Given the description of an element on the screen output the (x, y) to click on. 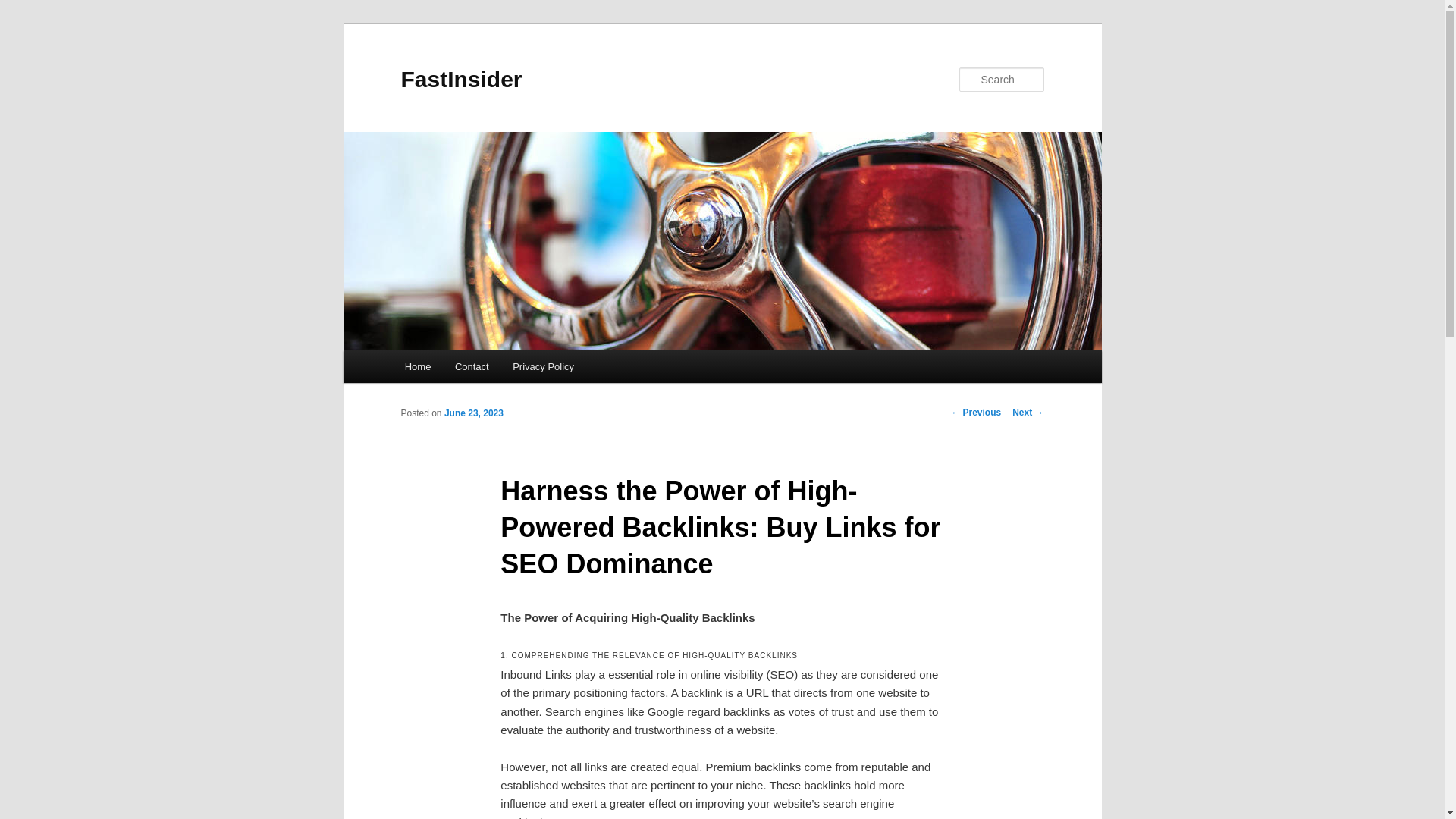
June 23, 2023 (473, 412)
FastInsider (460, 78)
Home (417, 366)
4:26 am (473, 412)
Search (24, 8)
Privacy Policy (542, 366)
Contact (471, 366)
